Given the description of an element on the screen output the (x, y) to click on. 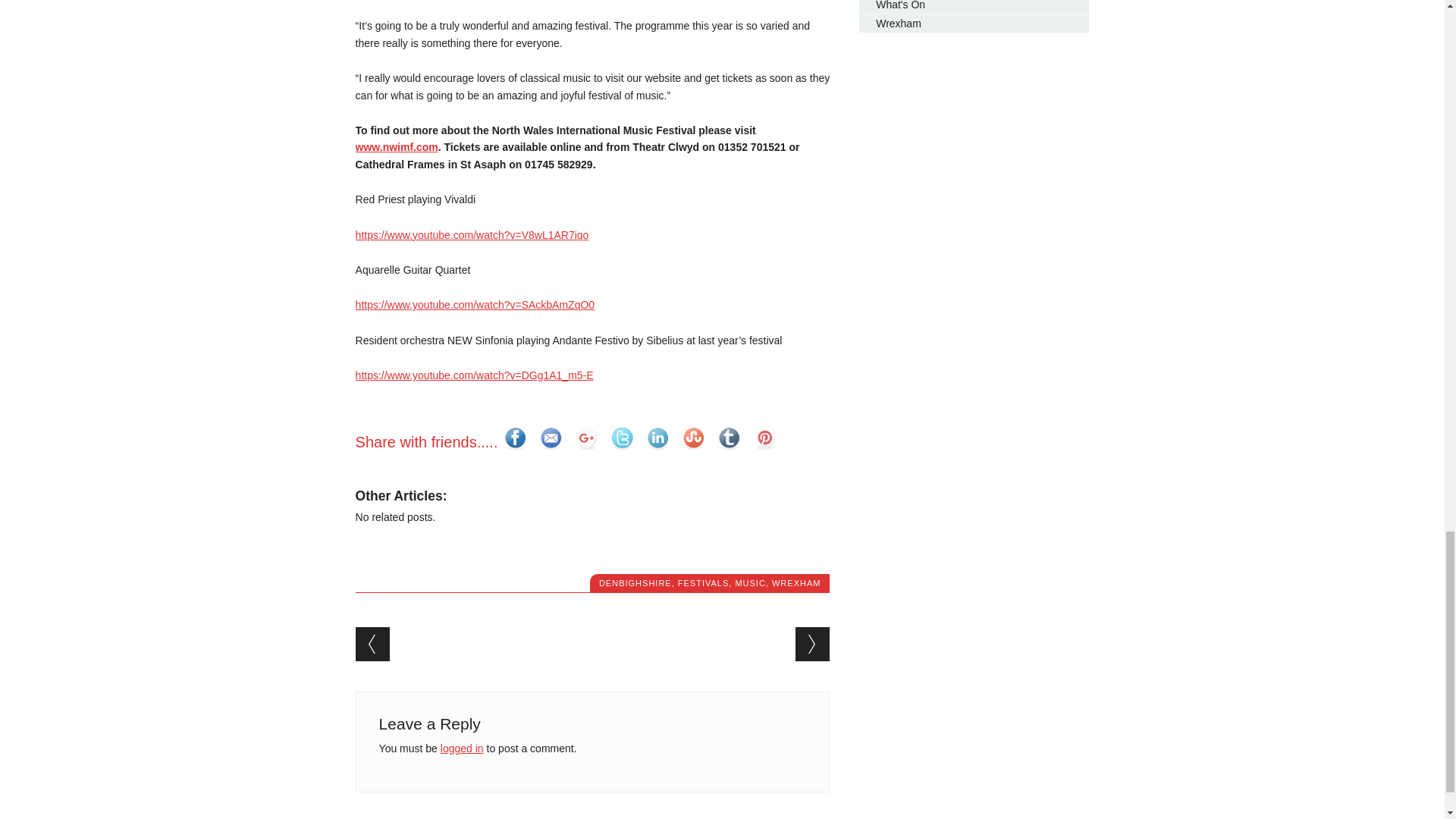
facebook (514, 437)
